Given the description of an element on the screen output the (x, y) to click on. 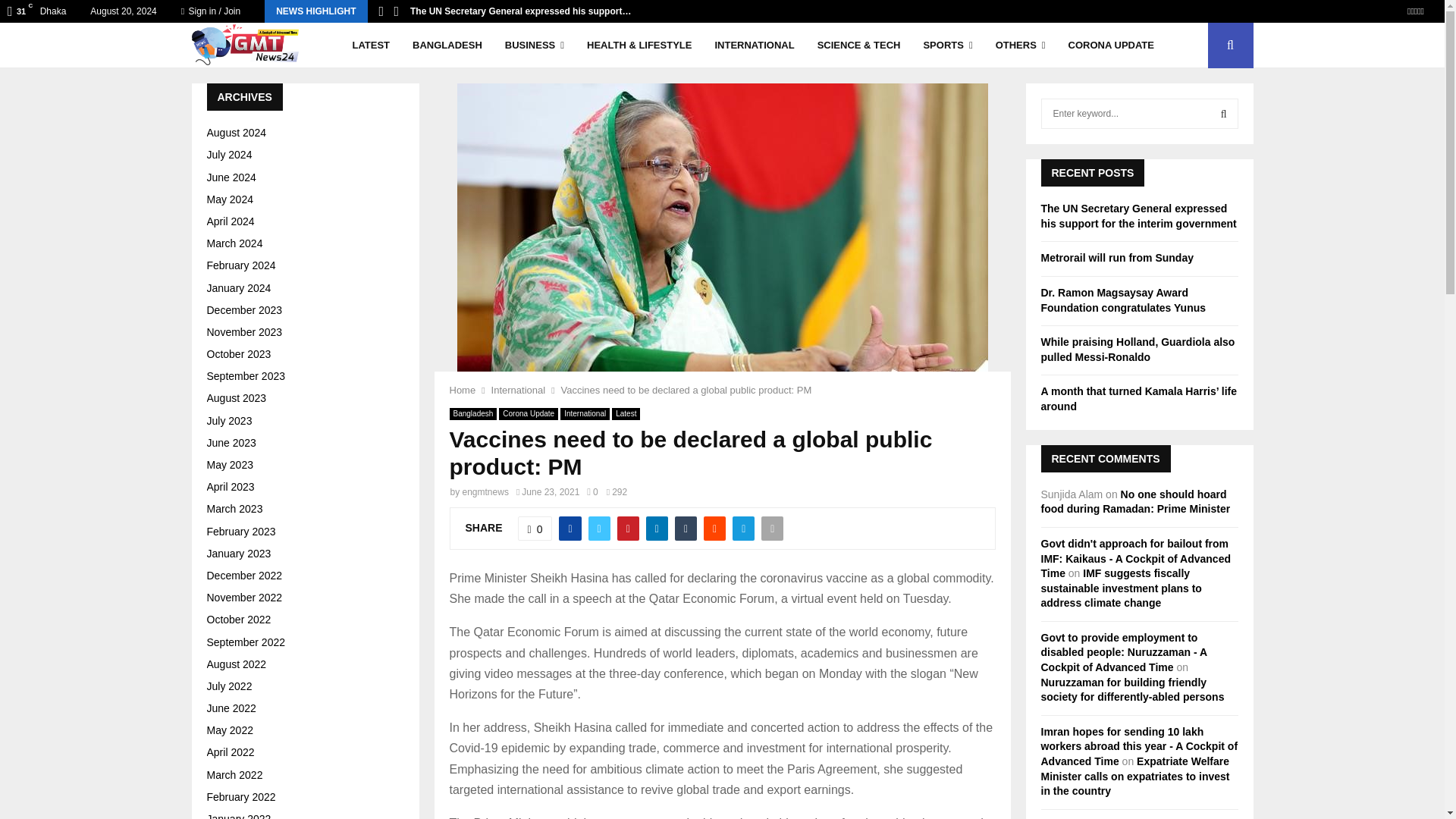
Like (535, 528)
BUSINESS (534, 44)
Sign up new account (722, 527)
Login to your account (722, 293)
BANGLADESH (446, 44)
